Given the description of an element on the screen output the (x, y) to click on. 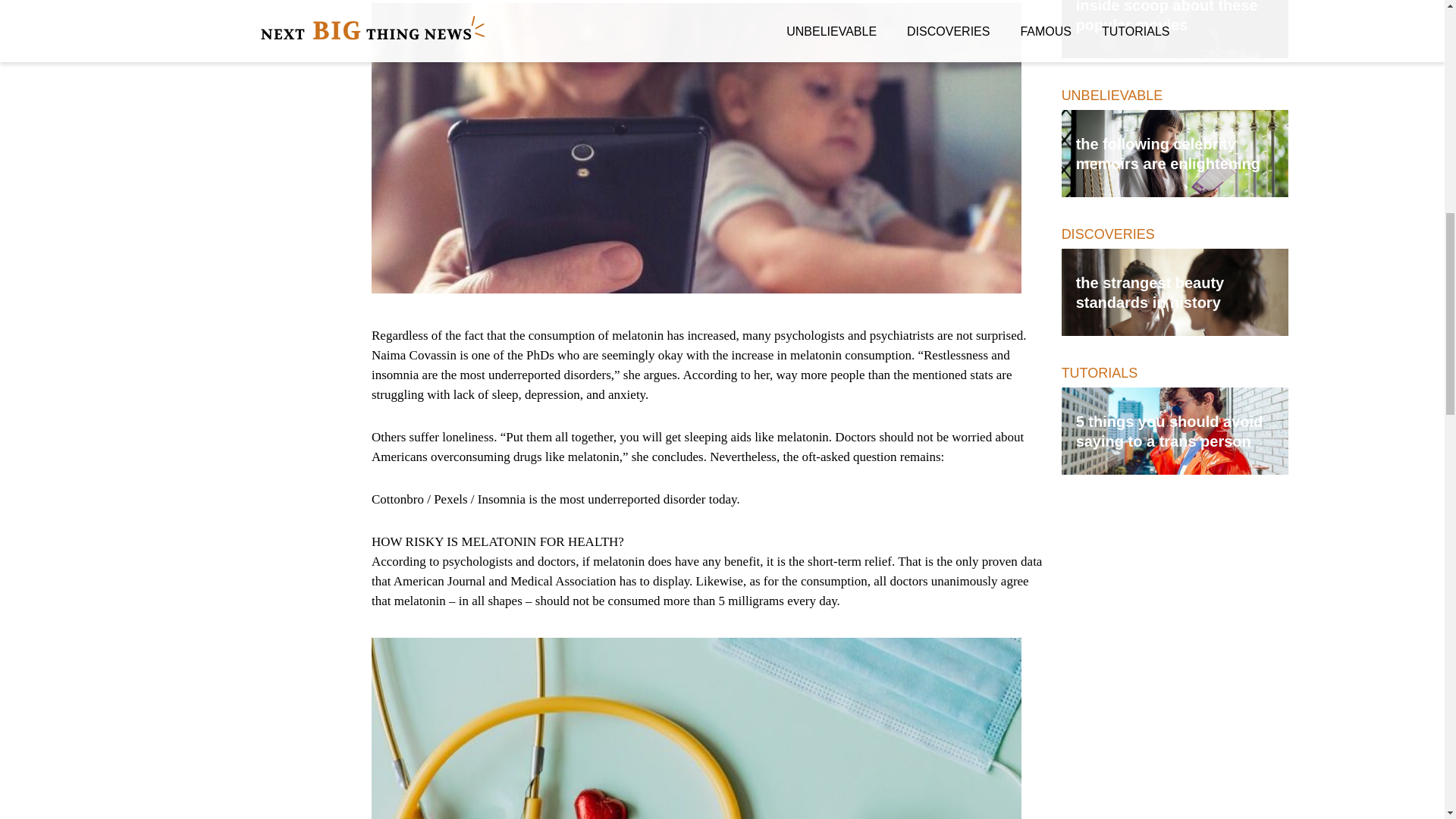
the strangest beauty standards in history (1175, 292)
the following celebrity memoirs are enlightening (1175, 153)
